Given the description of an element on the screen output the (x, y) to click on. 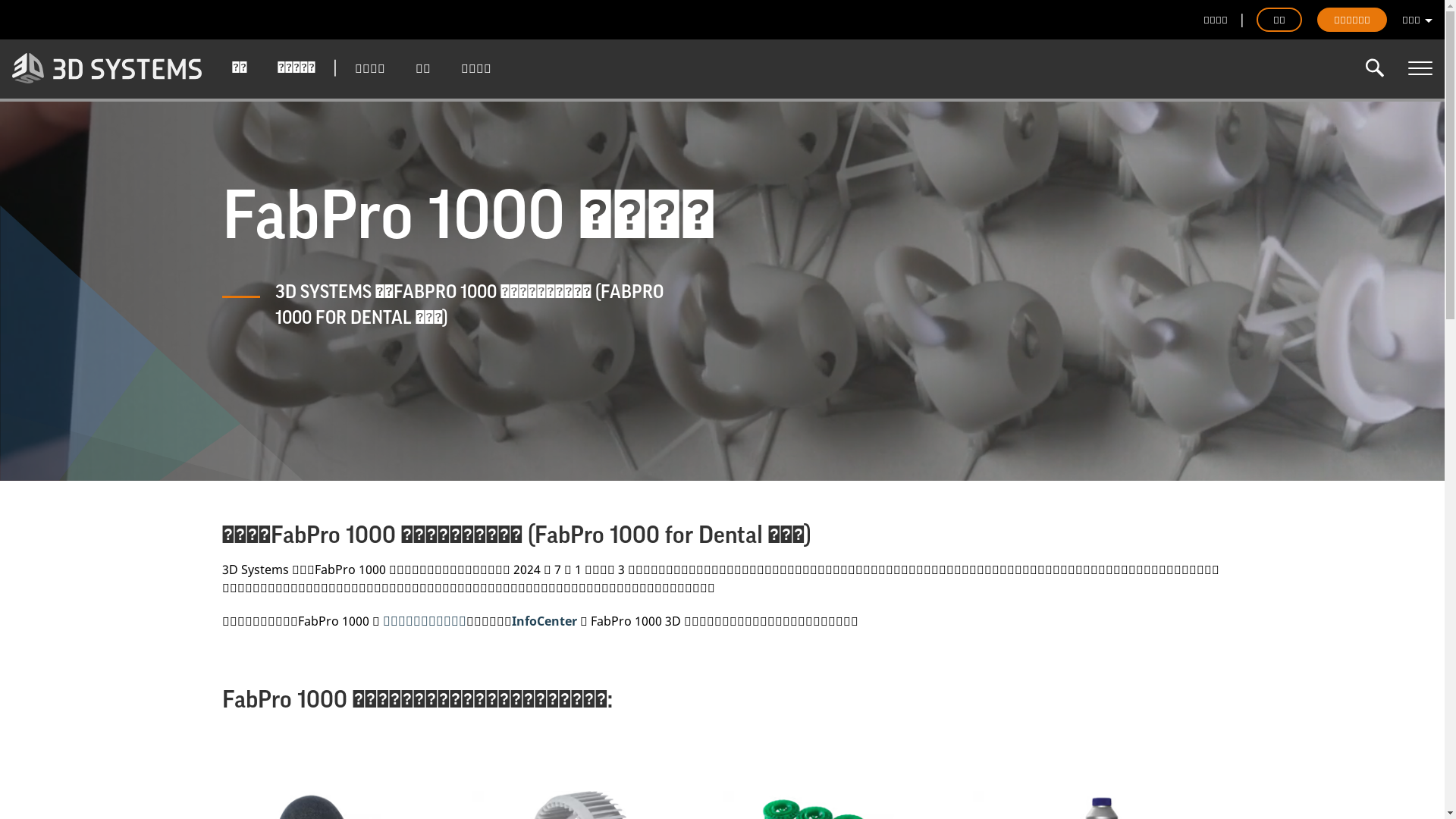
Search Element type: text (1374, 67)
Enter the terms you wish to search for. Element type: hover (1374, 67)
InfoCenter Element type: text (543, 620)
